Given the description of an element on the screen output the (x, y) to click on. 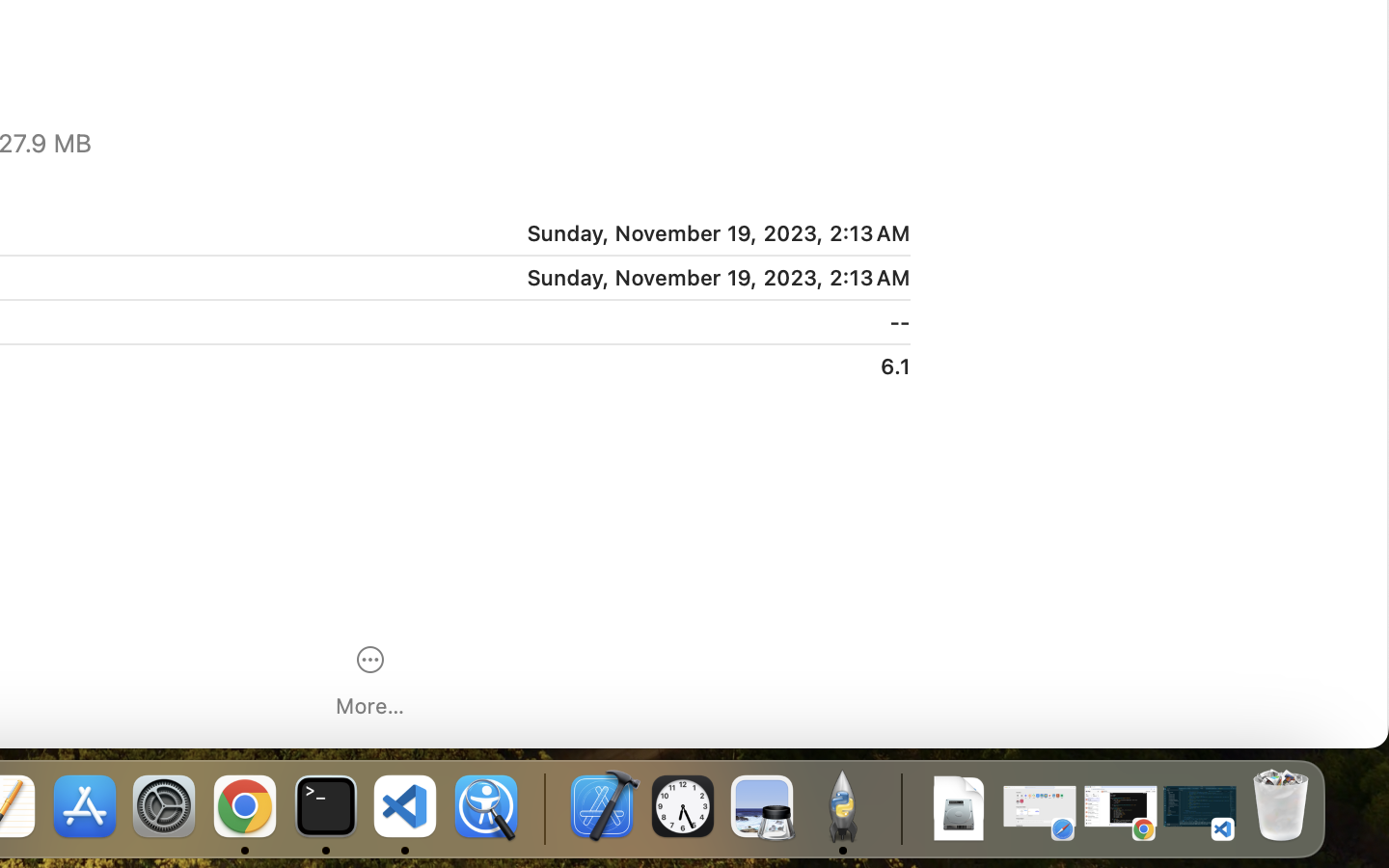
0.4285714328289032 Element type: AXDockItem (541, 807)
